Given the description of an element on the screen output the (x, y) to click on. 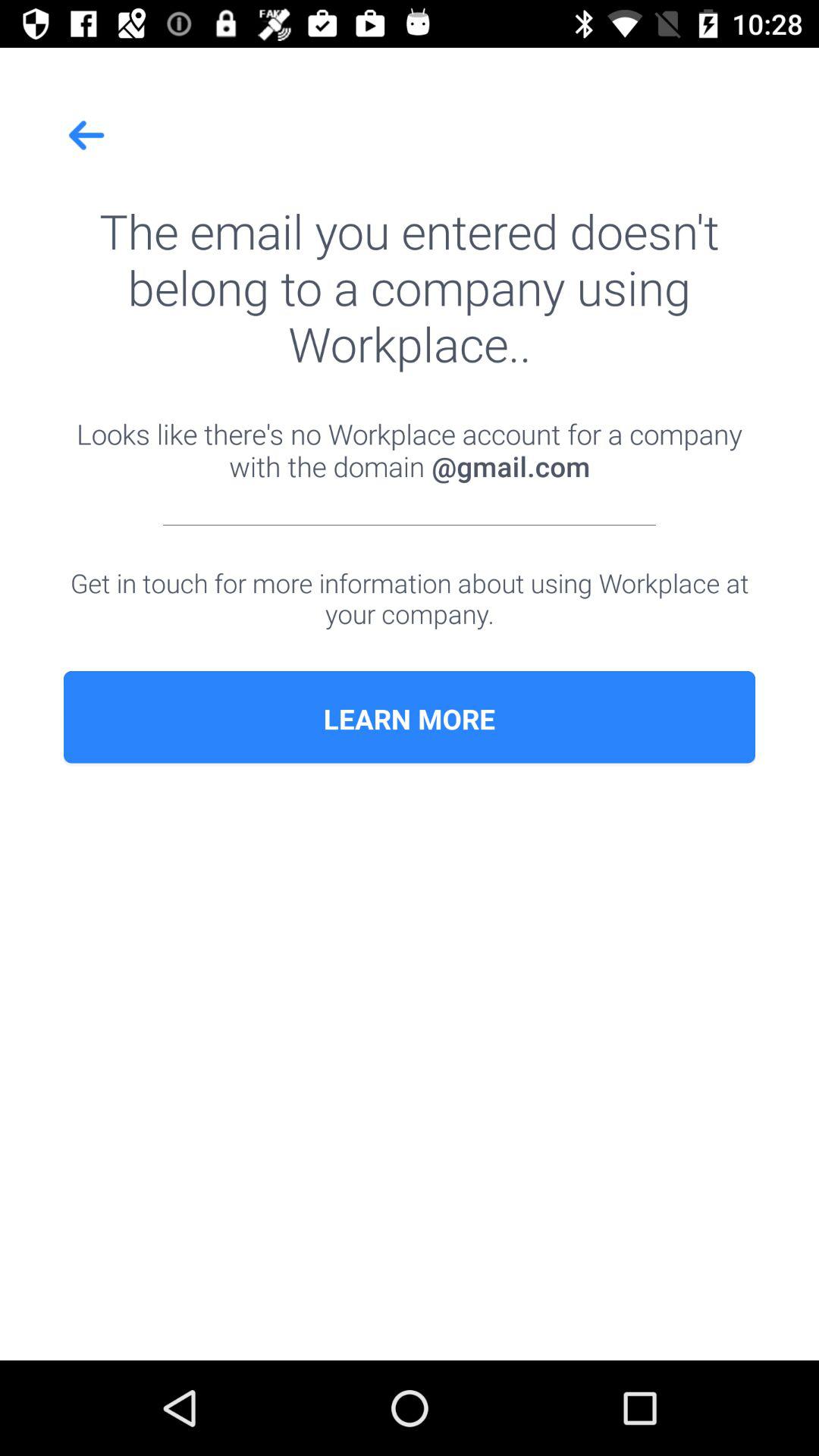
choose learn more icon (409, 718)
